Given the description of an element on the screen output the (x, y) to click on. 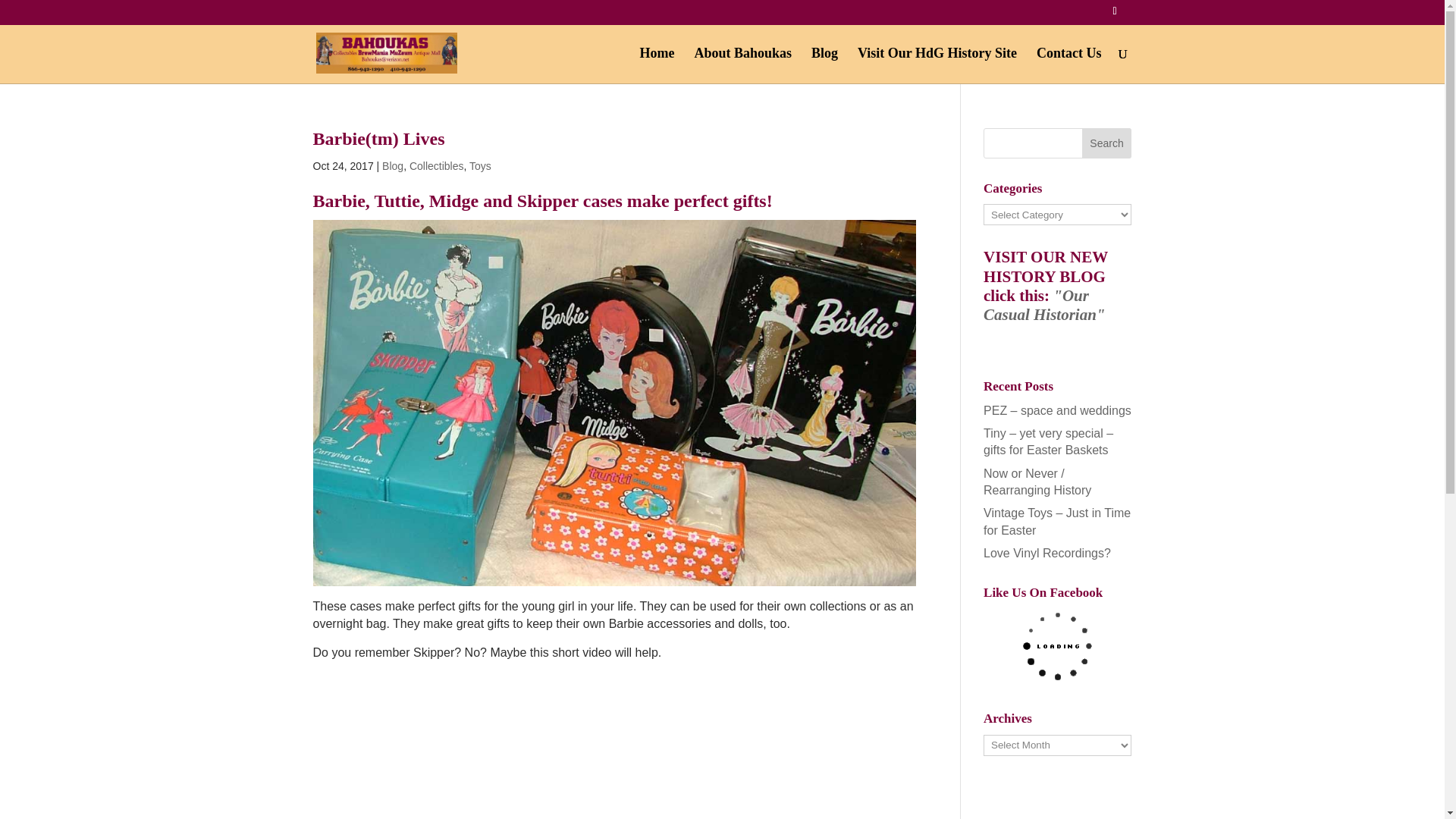
About Bahoukas (743, 65)
Toys (480, 165)
Collectibles (436, 165)
Blog (392, 165)
Love Vinyl Recordings? (1047, 553)
Search (1106, 142)
"Our Casual Historian" (1044, 304)
Search (1106, 142)
Home (656, 65)
Contact Us (1069, 65)
